Given the description of an element on the screen output the (x, y) to click on. 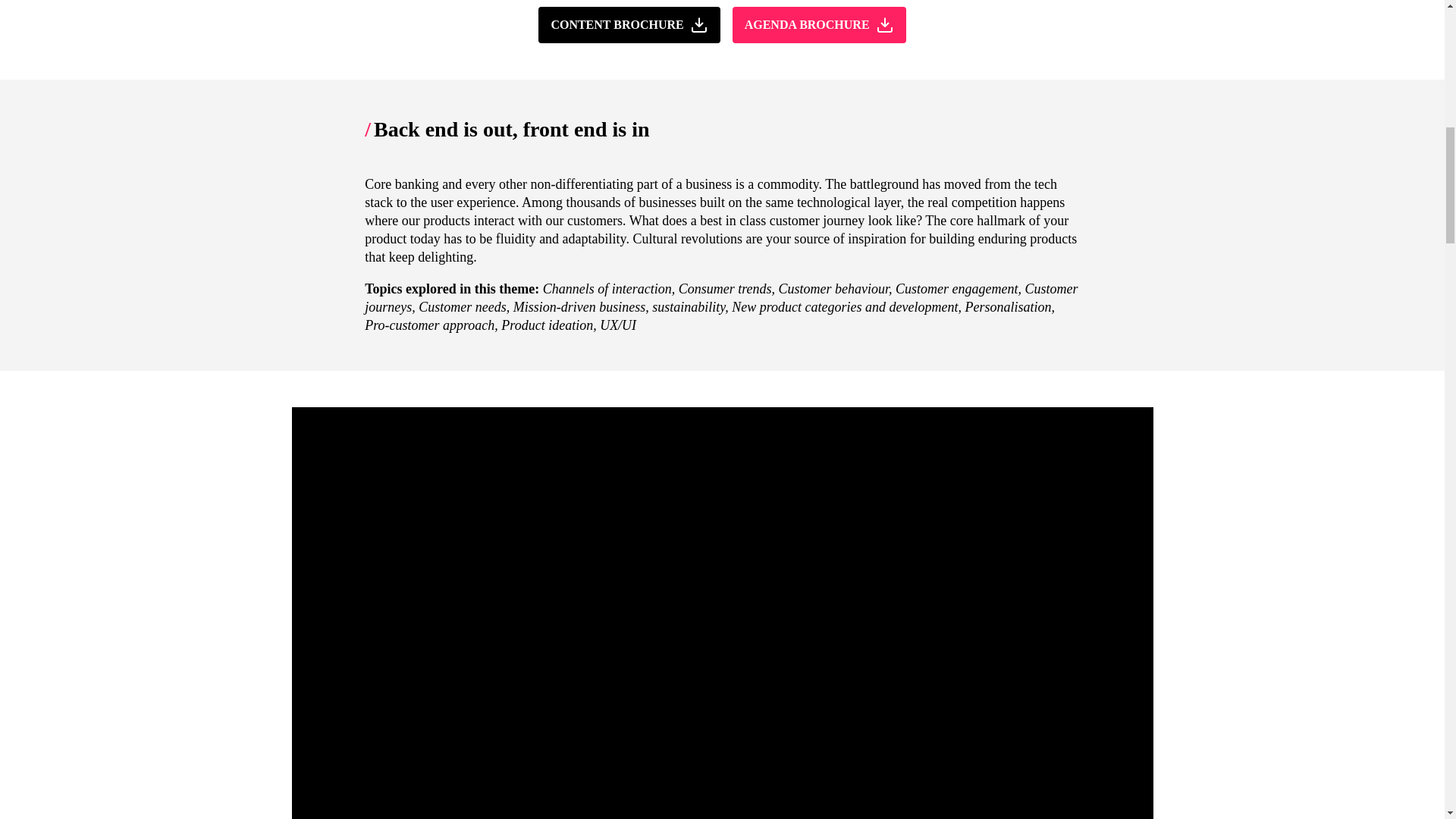
AGENDA BROCHURE (818, 24)
CONTENT BROCHURE (635, 24)
